Given the description of an element on the screen output the (x, y) to click on. 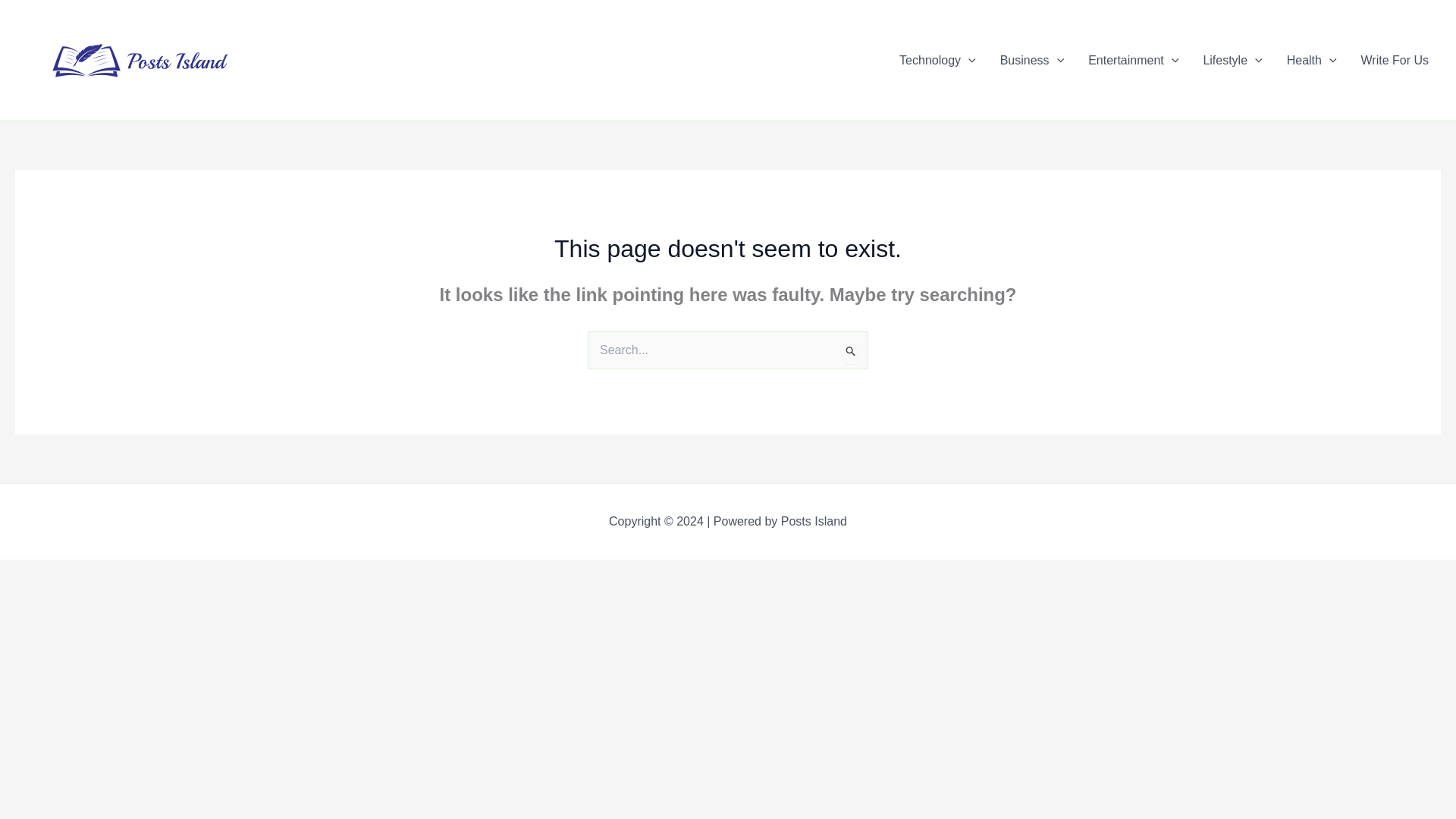
Technology (937, 60)
Business (1032, 60)
Entertainment (1133, 60)
Write For Us (1395, 60)
Health (1312, 60)
Lifestyle (1232, 60)
